Given the description of an element on the screen output the (x, y) to click on. 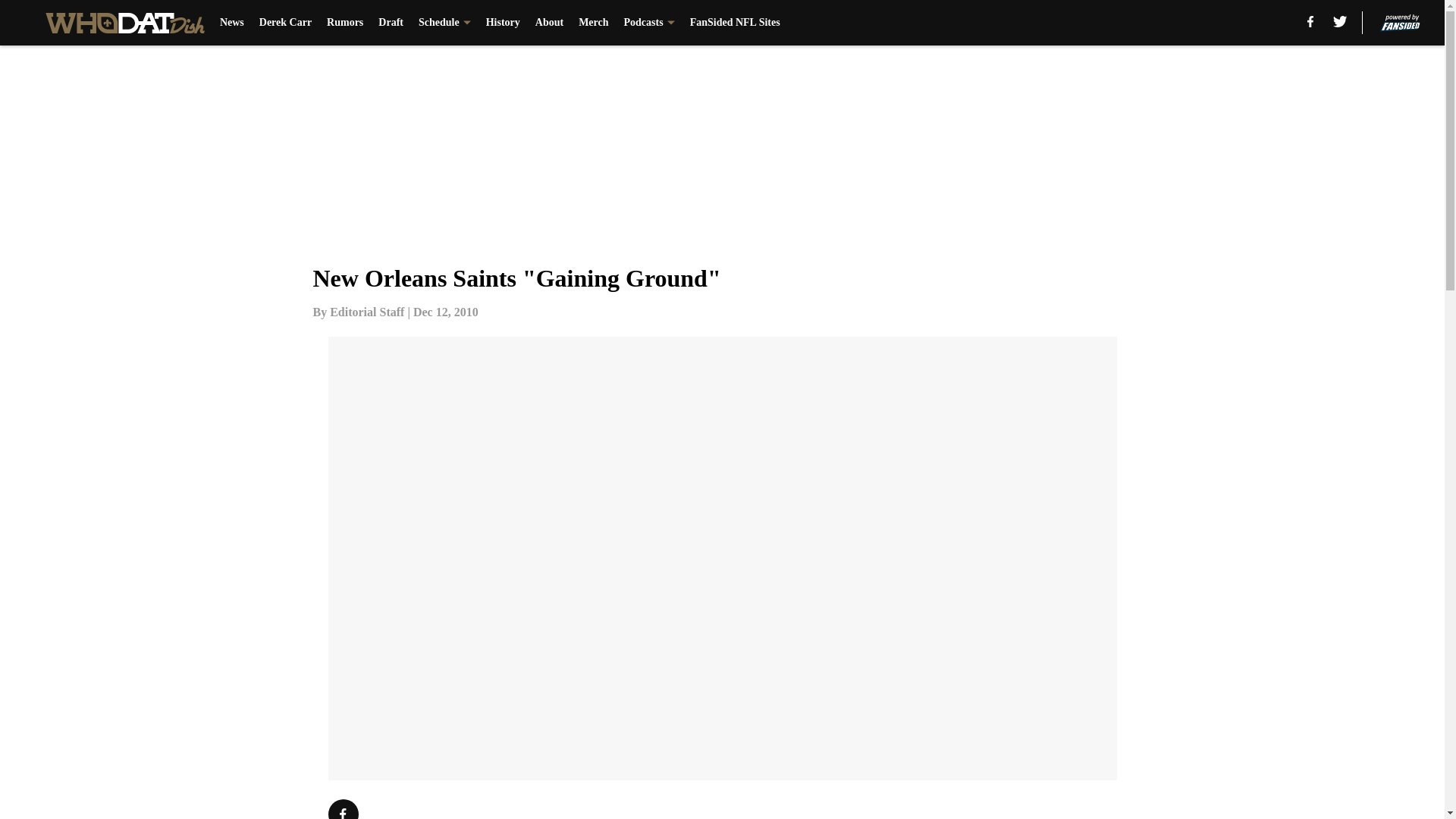
About (549, 22)
News (231, 22)
Merch (593, 22)
Draft (390, 22)
History (502, 22)
Derek Carr (285, 22)
FanSided NFL Sites (735, 22)
Rumors (344, 22)
